Given the description of an element on the screen output the (x, y) to click on. 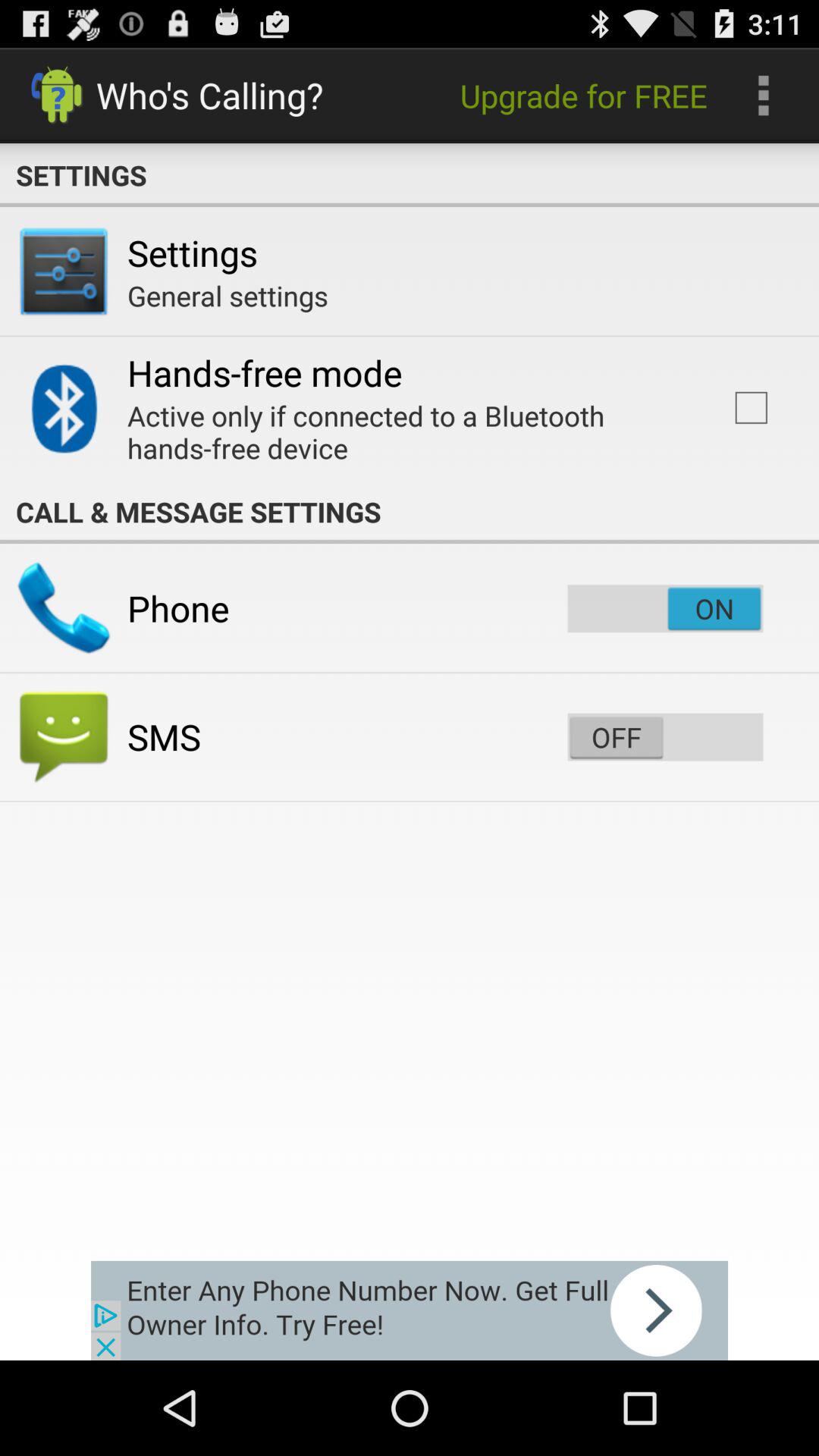
toggle phone permission (665, 608)
